Given the description of an element on the screen output the (x, y) to click on. 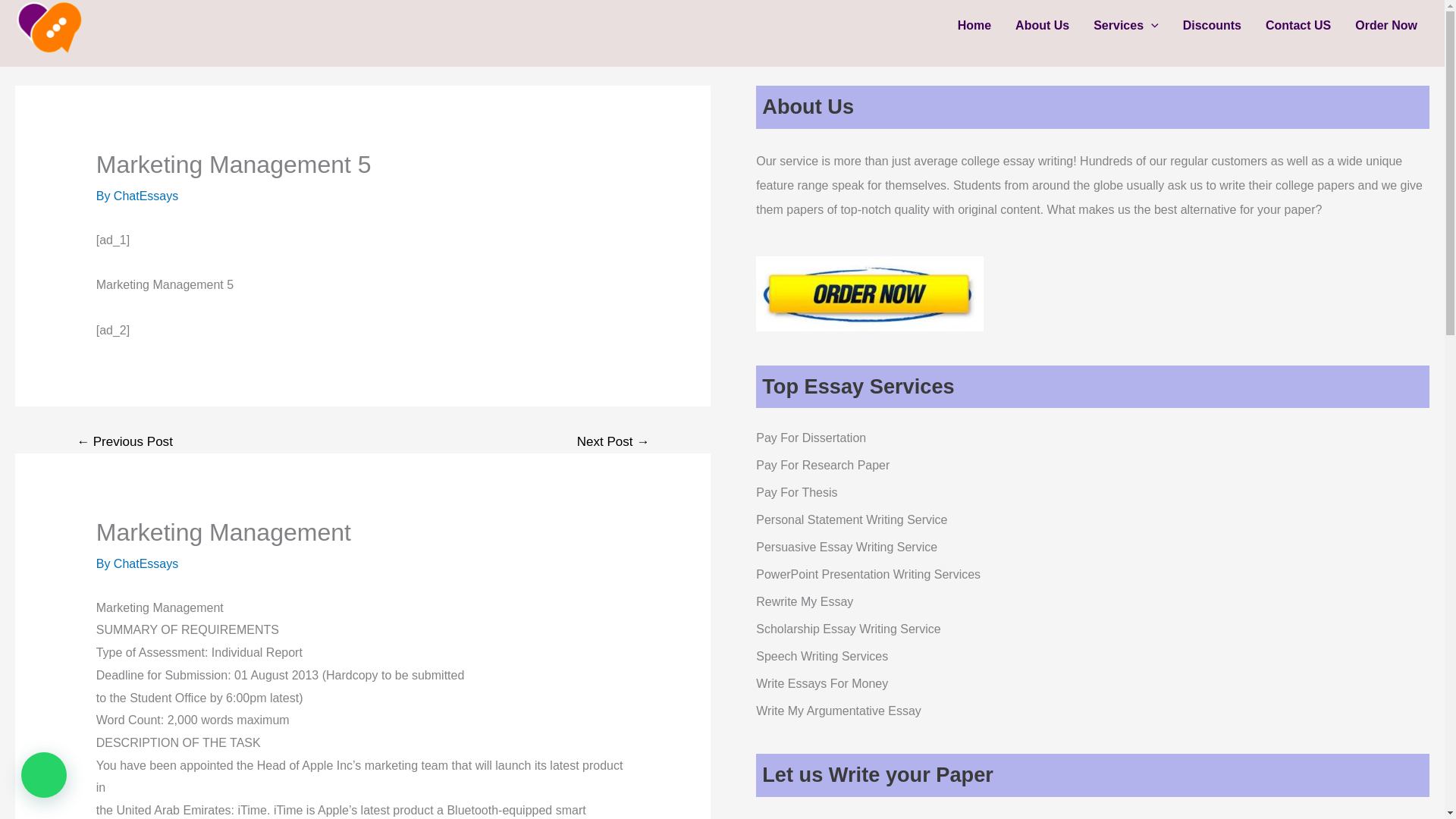
Discounts (1211, 25)
Contact US (1297, 25)
About Us (1042, 25)
Services (1125, 25)
Order Now (1385, 25)
View all posts by ChatEssays (145, 562)
View all posts by ChatEssays (145, 195)
Home (973, 25)
